Given the description of an element on the screen output the (x, y) to click on. 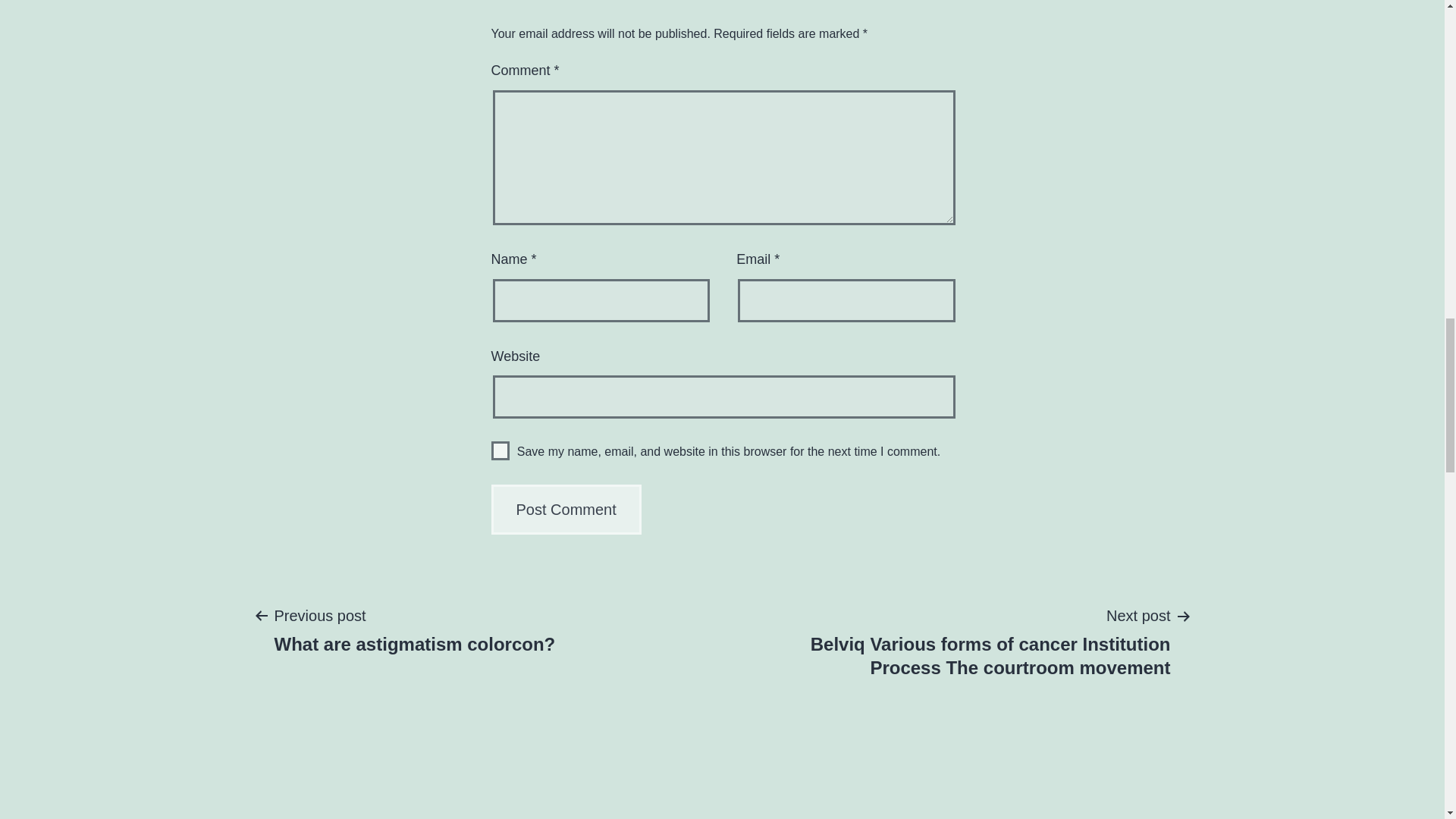
Post Comment (413, 629)
yes (567, 509)
Post Comment (500, 450)
